Given the description of an element on the screen output the (x, y) to click on. 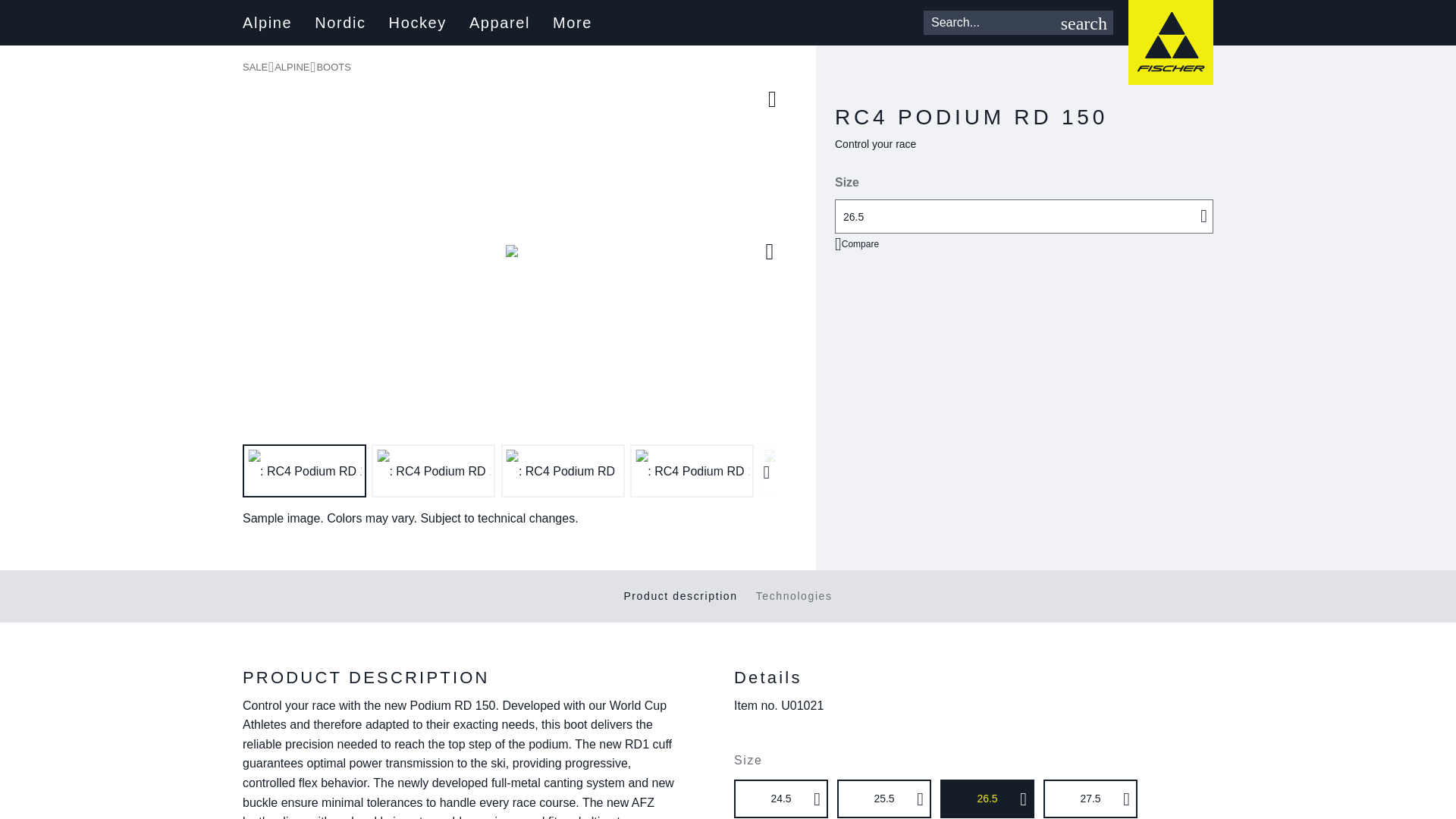
Hockey (417, 22)
Hockey (417, 22)
